Given the description of an element on the screen output the (x, y) to click on. 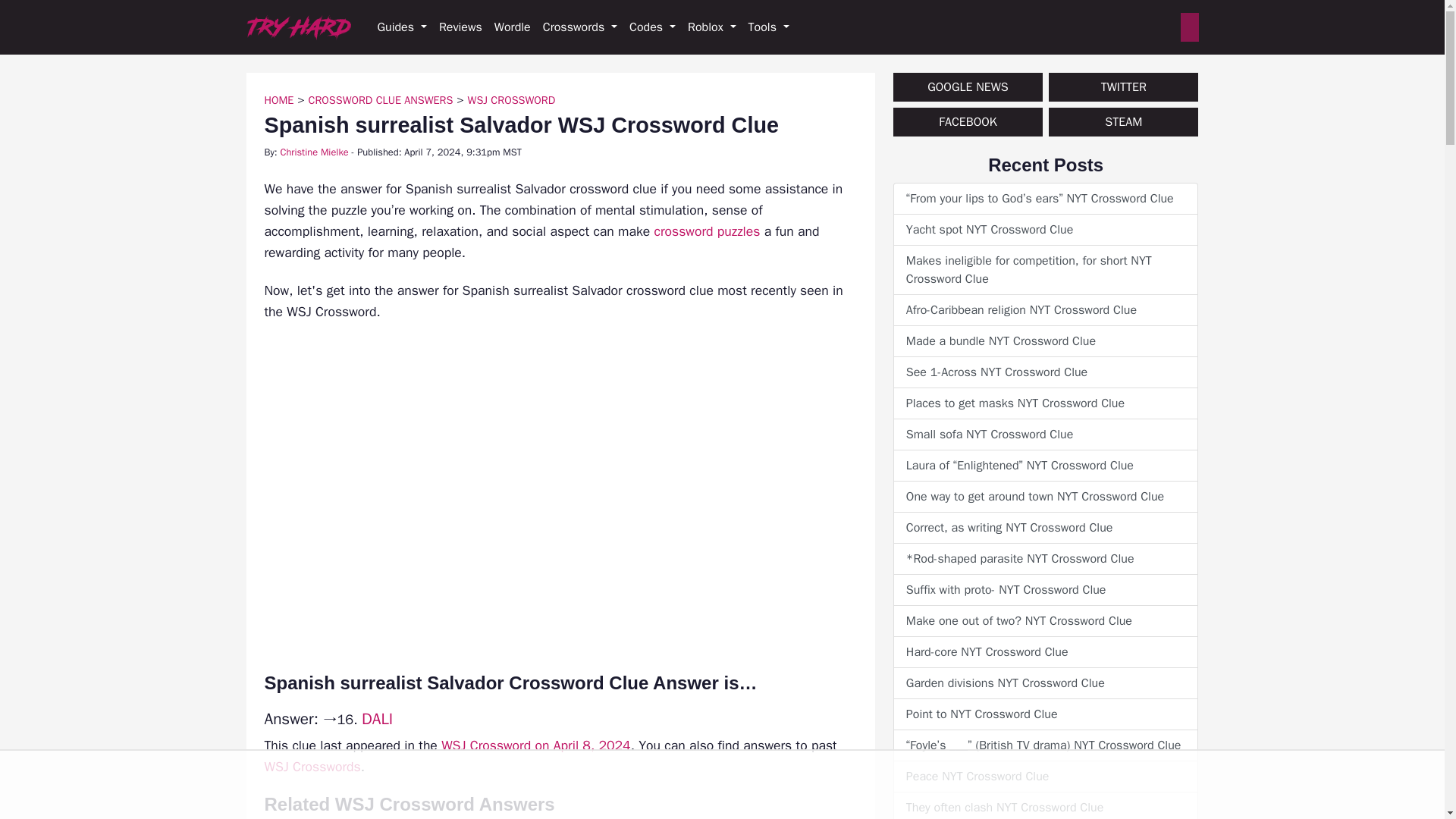
Codes (652, 27)
Guides (401, 27)
Reviews (459, 27)
Wordle (512, 27)
Try Hard Guides (298, 27)
Crosswords (580, 27)
Roblox (711, 27)
